Given the description of an element on the screen output the (x, y) to click on. 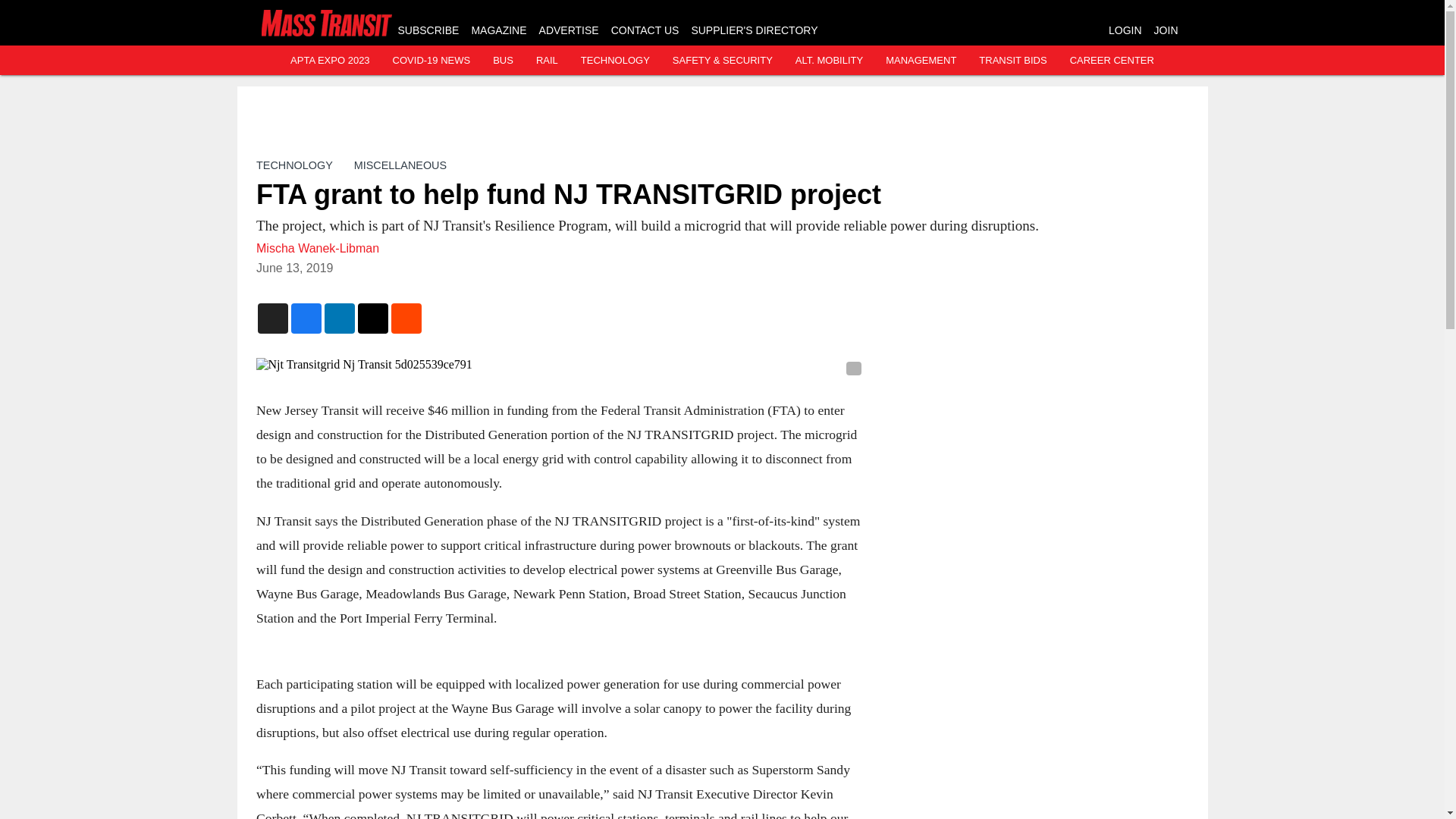
CONTACT US (645, 30)
ALT. MOBILITY (828, 60)
COVID-19 NEWS (431, 60)
MAGAZINE (497, 30)
APTA EXPO 2023 (329, 60)
MANAGEMENT (920, 60)
Njt Transitgrid Nj Transit 5d025539ce791 (560, 364)
TRANSIT BIDS (1012, 60)
SUPPLIER'S DIRECTORY (753, 30)
ADVERTISE (568, 30)
